Given the description of an element on the screen output the (x, y) to click on. 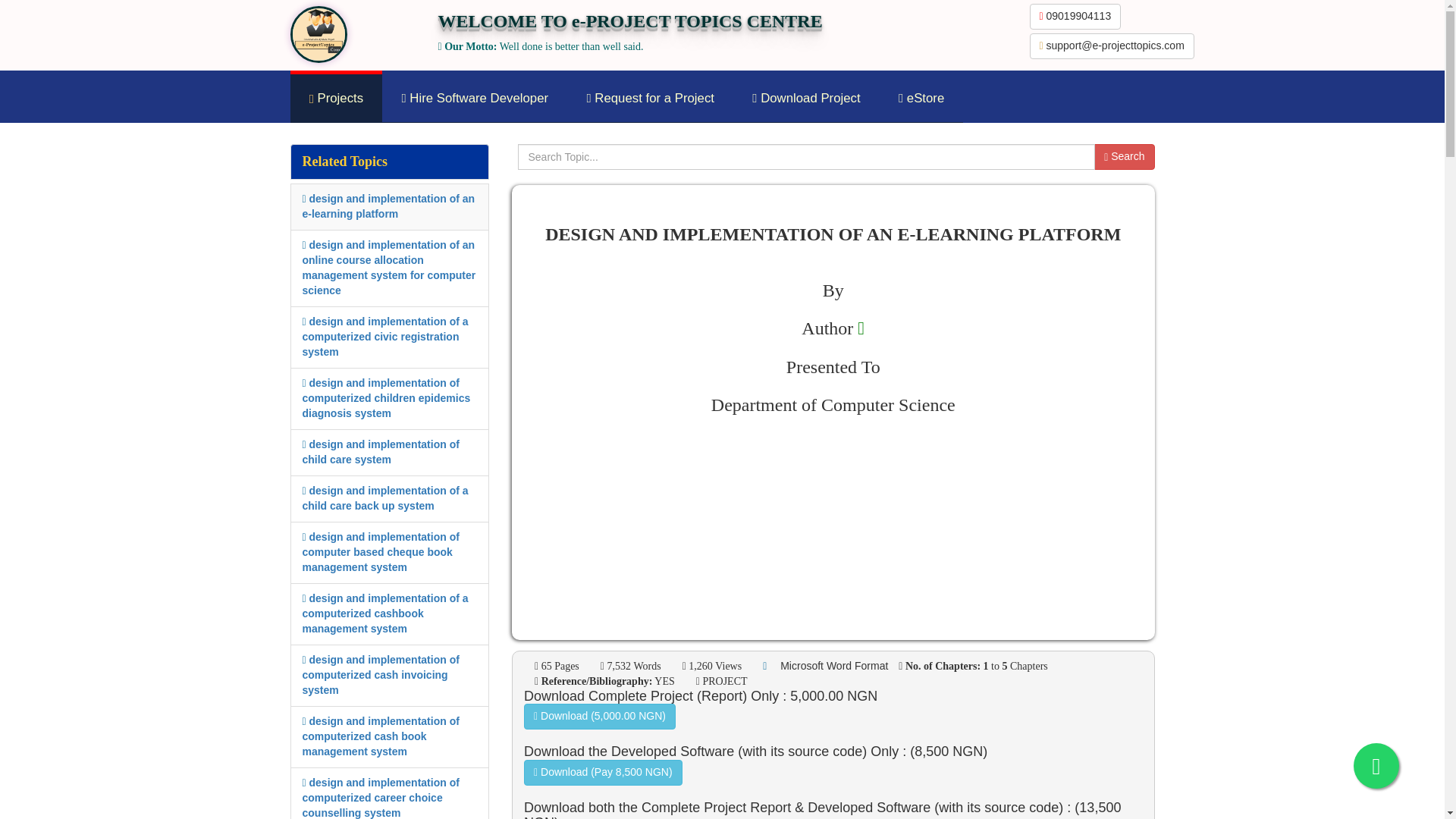
design and implementation of child care system (379, 452)
design and implementation of an e-learning platform (387, 206)
design and implementation of a child care back up system (384, 497)
Hire Software Developer (474, 98)
